Given the description of an element on the screen output the (x, y) to click on. 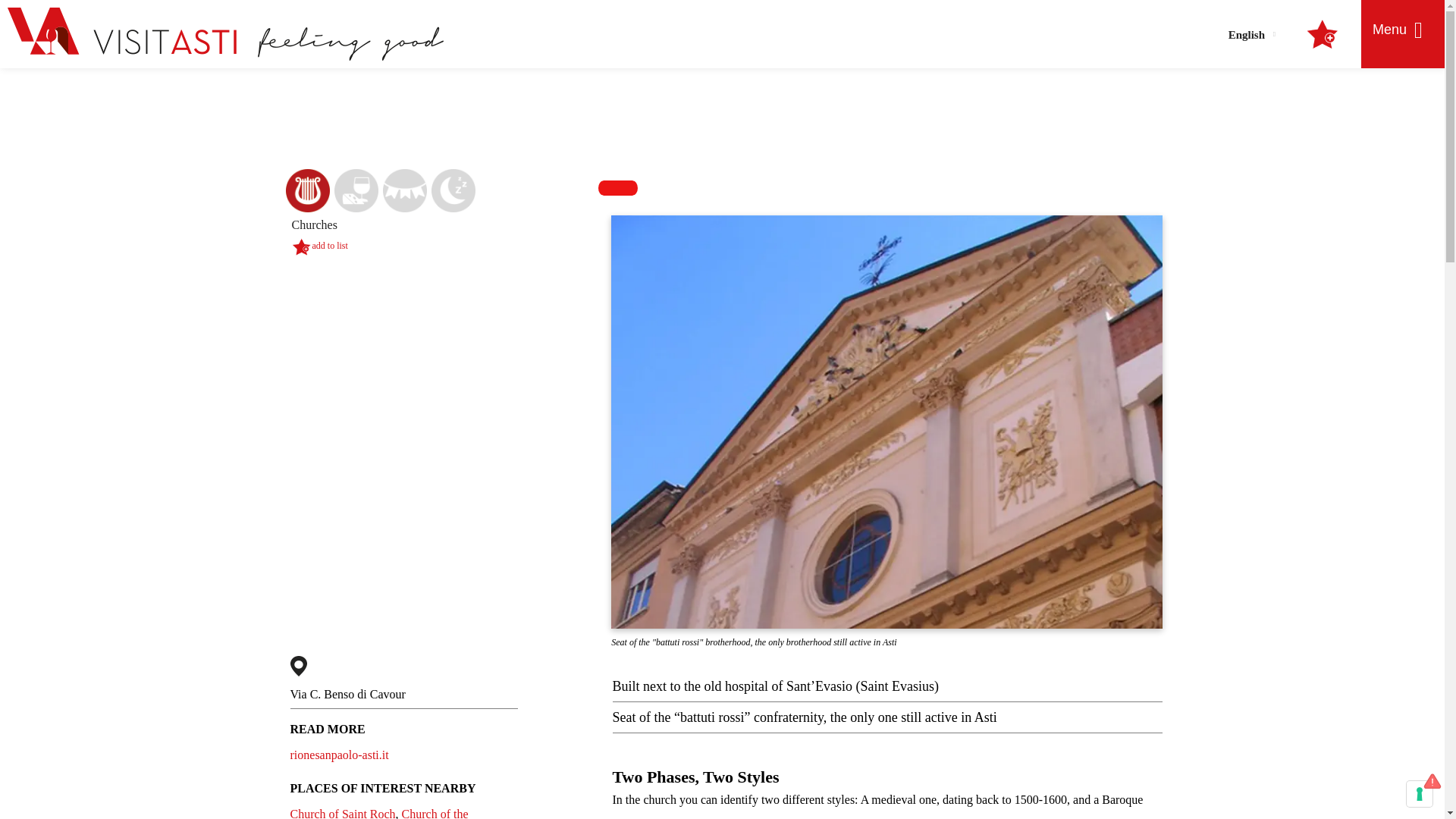
Search (1154, 105)
Favorite (300, 246)
English (1251, 33)
aggiungilo (330, 245)
